Given the description of an element on the screen output the (x, y) to click on. 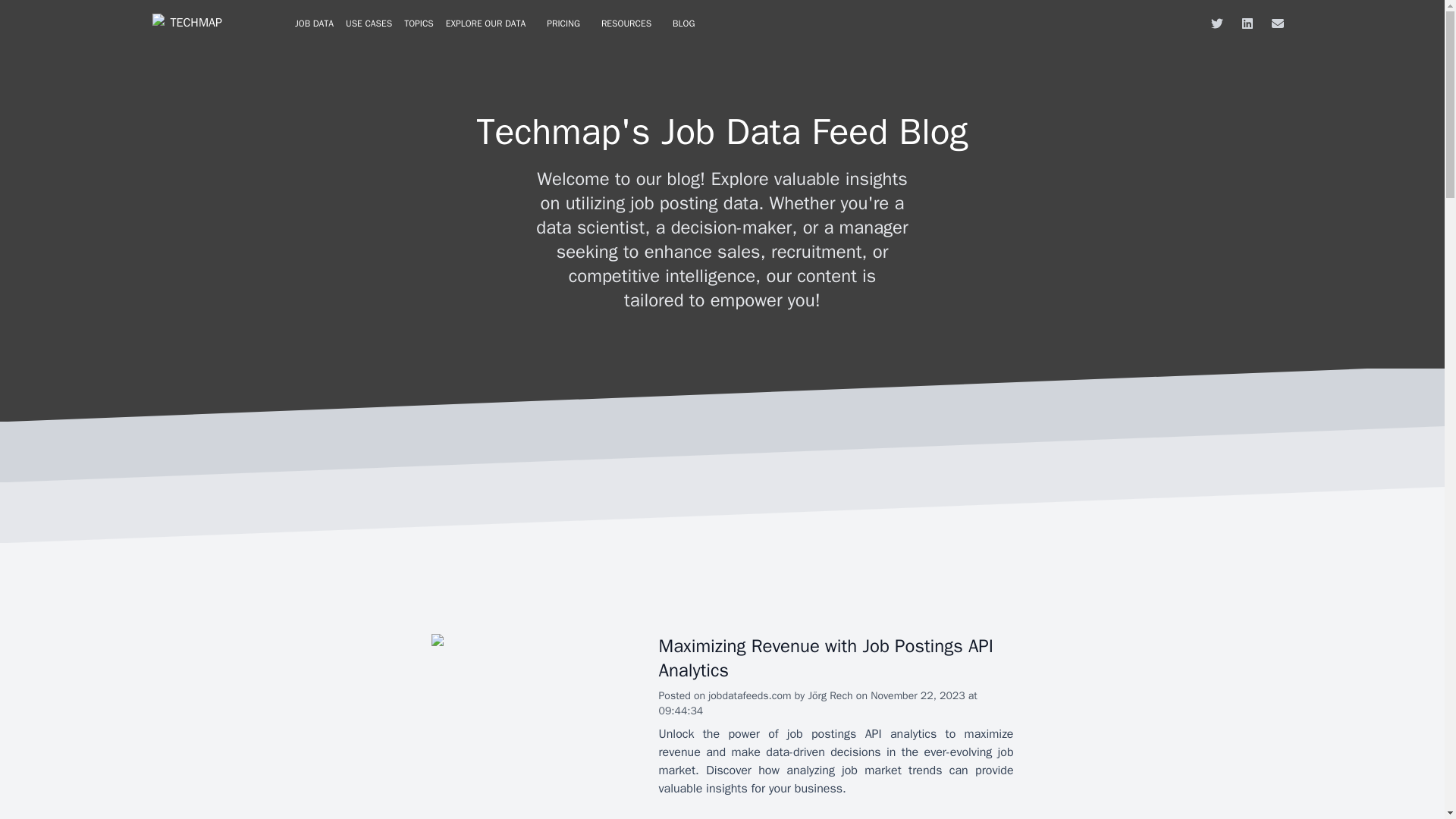
RESOURCES (625, 23)
BLOG (683, 23)
Maximizing Revenue with Job Postings API Analytics (825, 657)
TECHMAP (186, 22)
TOPICS (418, 23)
EXPLORE OUR DATA (485, 23)
PRICING (563, 23)
JOB DATA (314, 23)
USE CASES (368, 23)
